Given the description of an element on the screen output the (x, y) to click on. 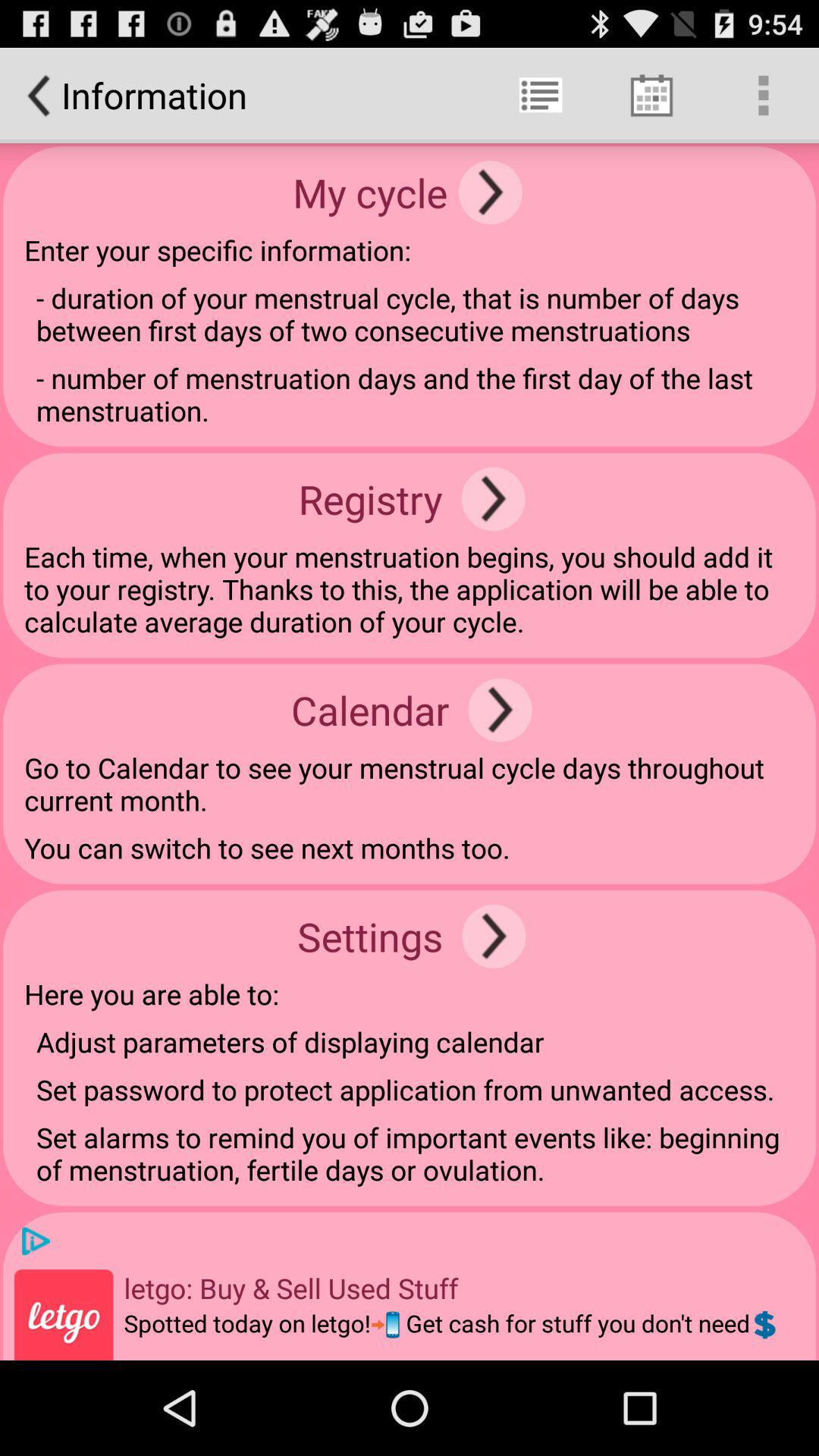
go to registry (493, 499)
